Given the description of an element on the screen output the (x, y) to click on. 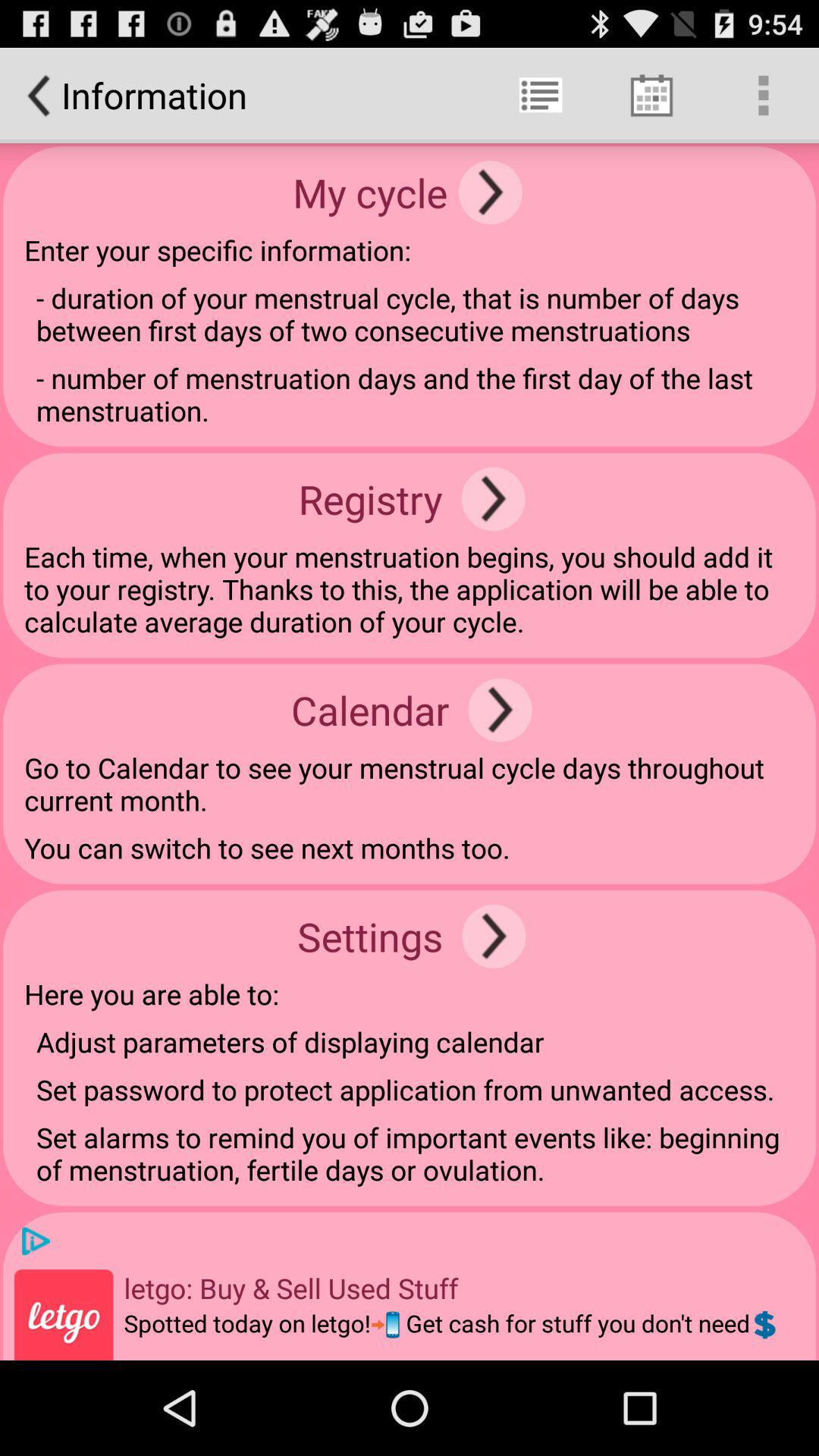
go to registry (493, 499)
